Given the description of an element on the screen output the (x, y) to click on. 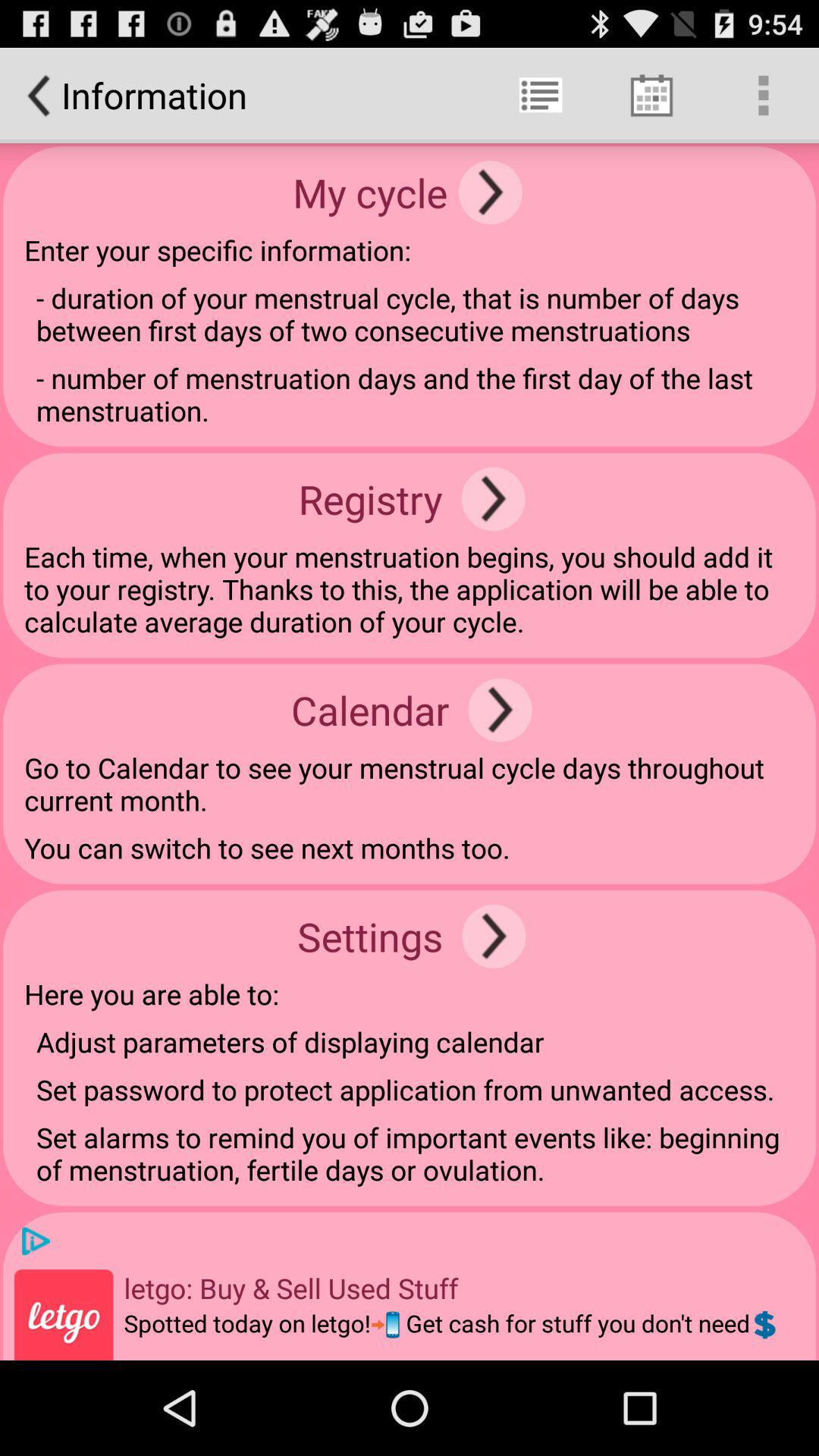
go to registry (493, 499)
